Given the description of an element on the screen output the (x, y) to click on. 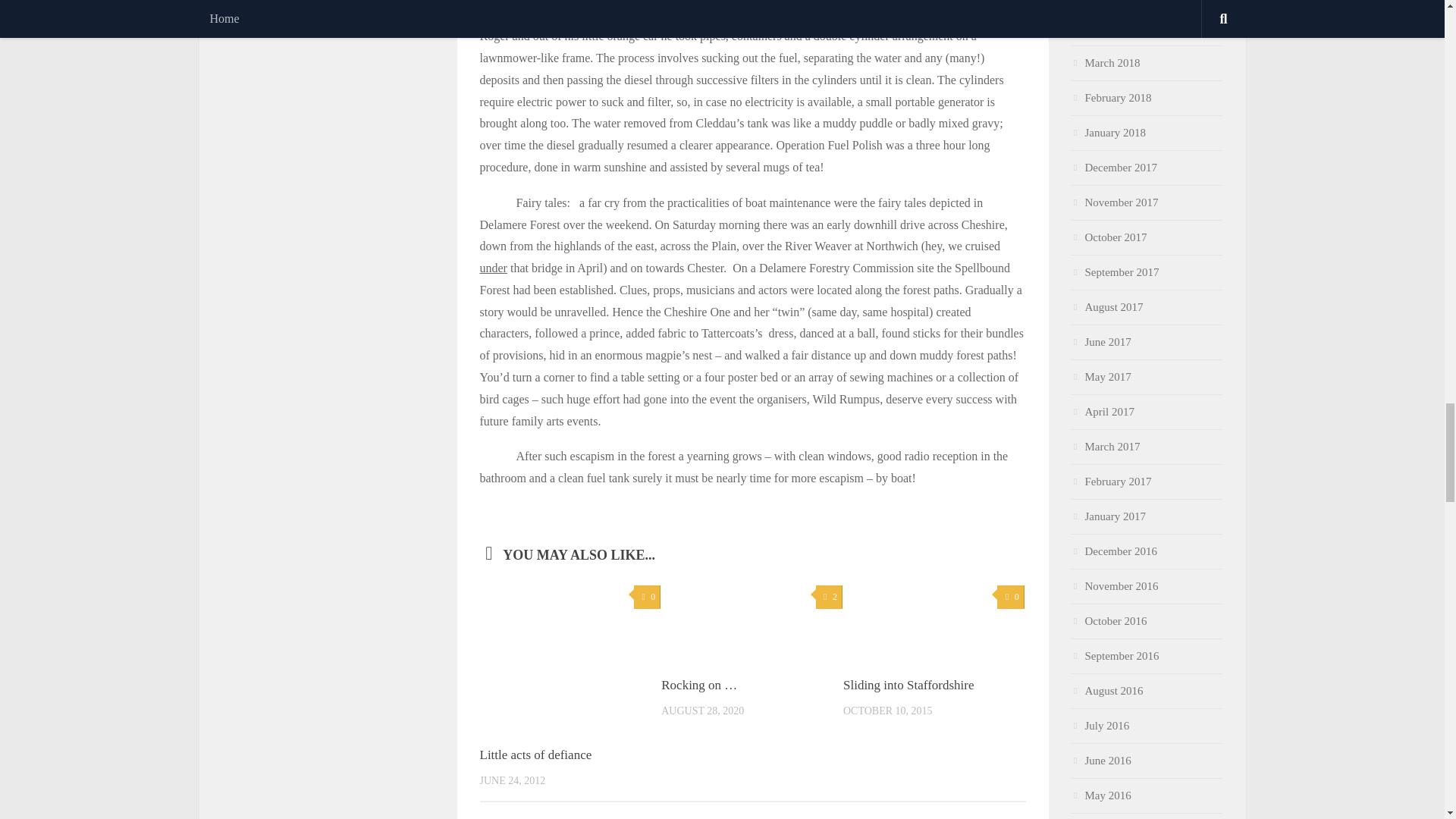
0 (1010, 597)
Little acts of defiance (535, 754)
0 (647, 597)
2 (829, 597)
Sliding into Staffordshire (908, 685)
